Given the description of an element on the screen output the (x, y) to click on. 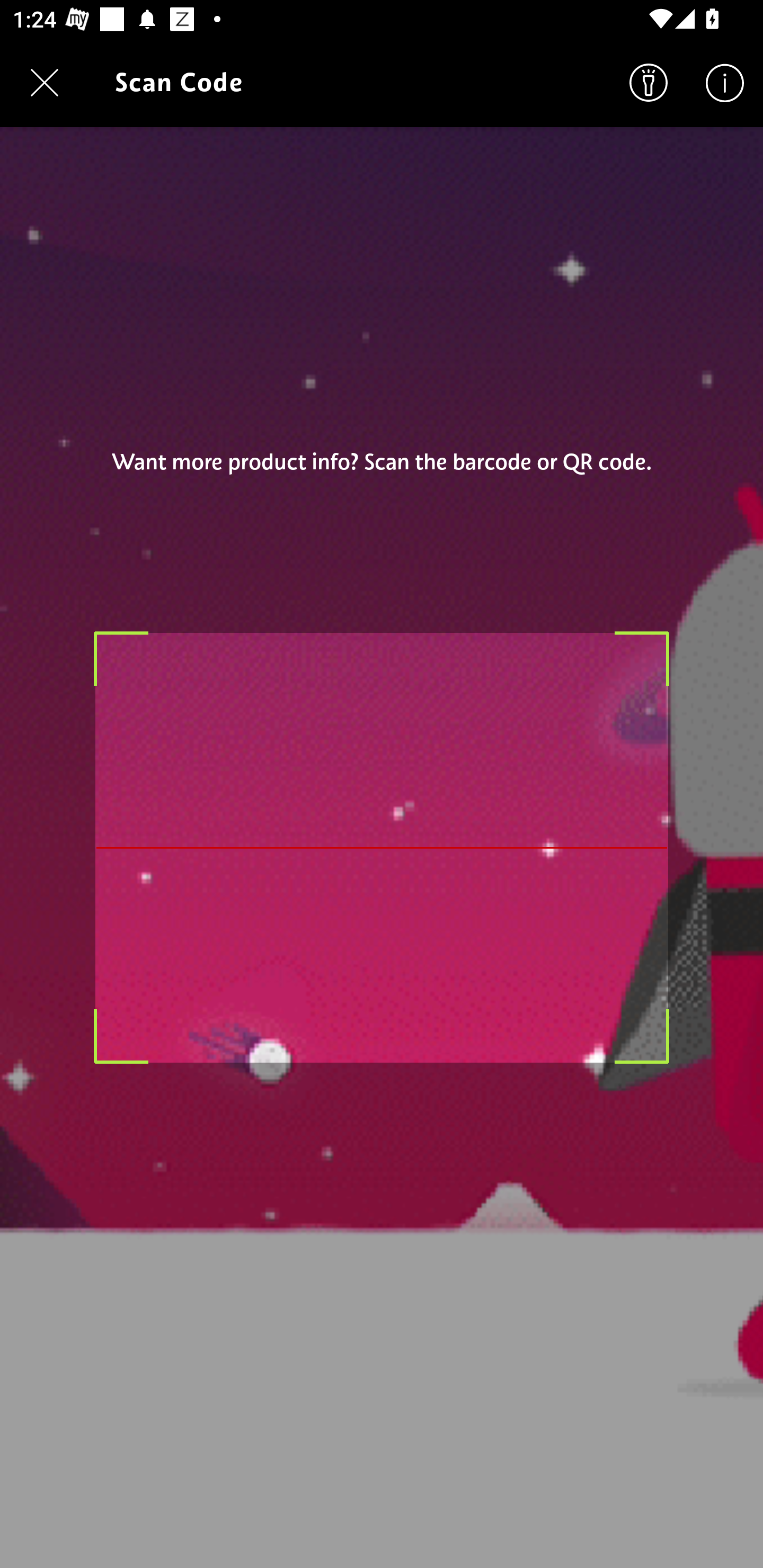
Navigate up (44, 82)
Search (648, 81)
Help (724, 81)
